Given the description of an element on the screen output the (x, y) to click on. 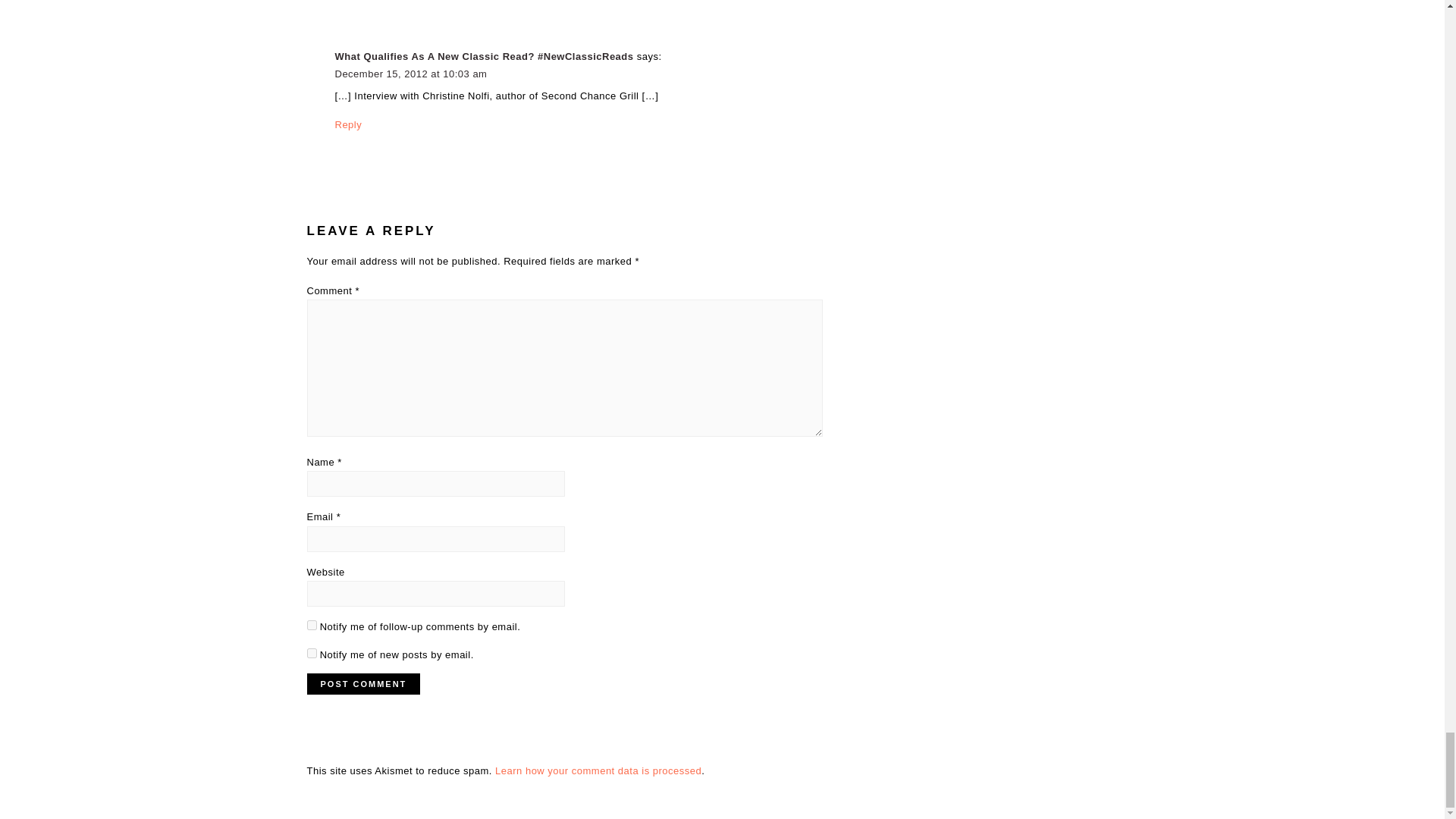
Post Comment (362, 683)
subscribe (310, 653)
subscribe (310, 624)
